Given the description of an element on the screen output the (x, y) to click on. 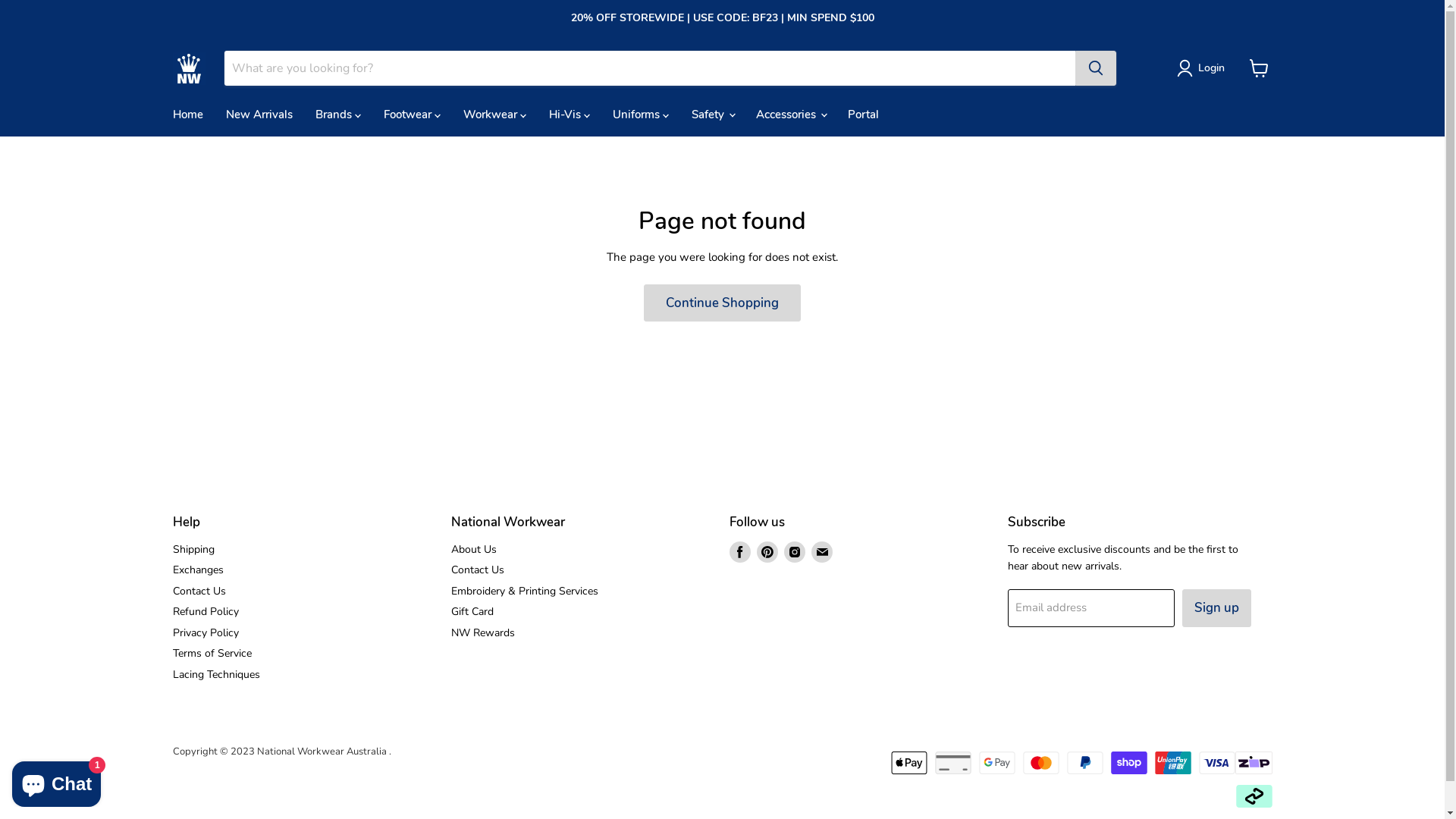
Continue Shopping Element type: text (721, 302)
Sign up Element type: text (1216, 607)
Shipping Element type: text (193, 549)
Shopify online store chat Element type: hover (56, 780)
View cart Element type: text (1259, 67)
Gift Card Element type: text (472, 611)
Find us on Pinterest Element type: text (767, 551)
Portal Element type: text (862, 114)
Exchanges Element type: text (197, 569)
NW Rewards Element type: text (482, 632)
Lacing Techniques Element type: text (216, 674)
Find us on Facebook Element type: text (739, 551)
Refund Policy Element type: text (205, 611)
Contact Us Element type: text (198, 590)
Login Element type: text (1211, 68)
Terms of Service Element type: text (211, 653)
New Arrivals Element type: text (258, 114)
Home Element type: text (186, 114)
Contact Us Element type: text (477, 569)
About Us Element type: text (473, 549)
Find us on Instagram Element type: text (794, 551)
Privacy Policy Element type: text (205, 632)
Find us on Email Element type: text (821, 551)
Embroidery & Printing Services Element type: text (524, 590)
